Given the description of an element on the screen output the (x, y) to click on. 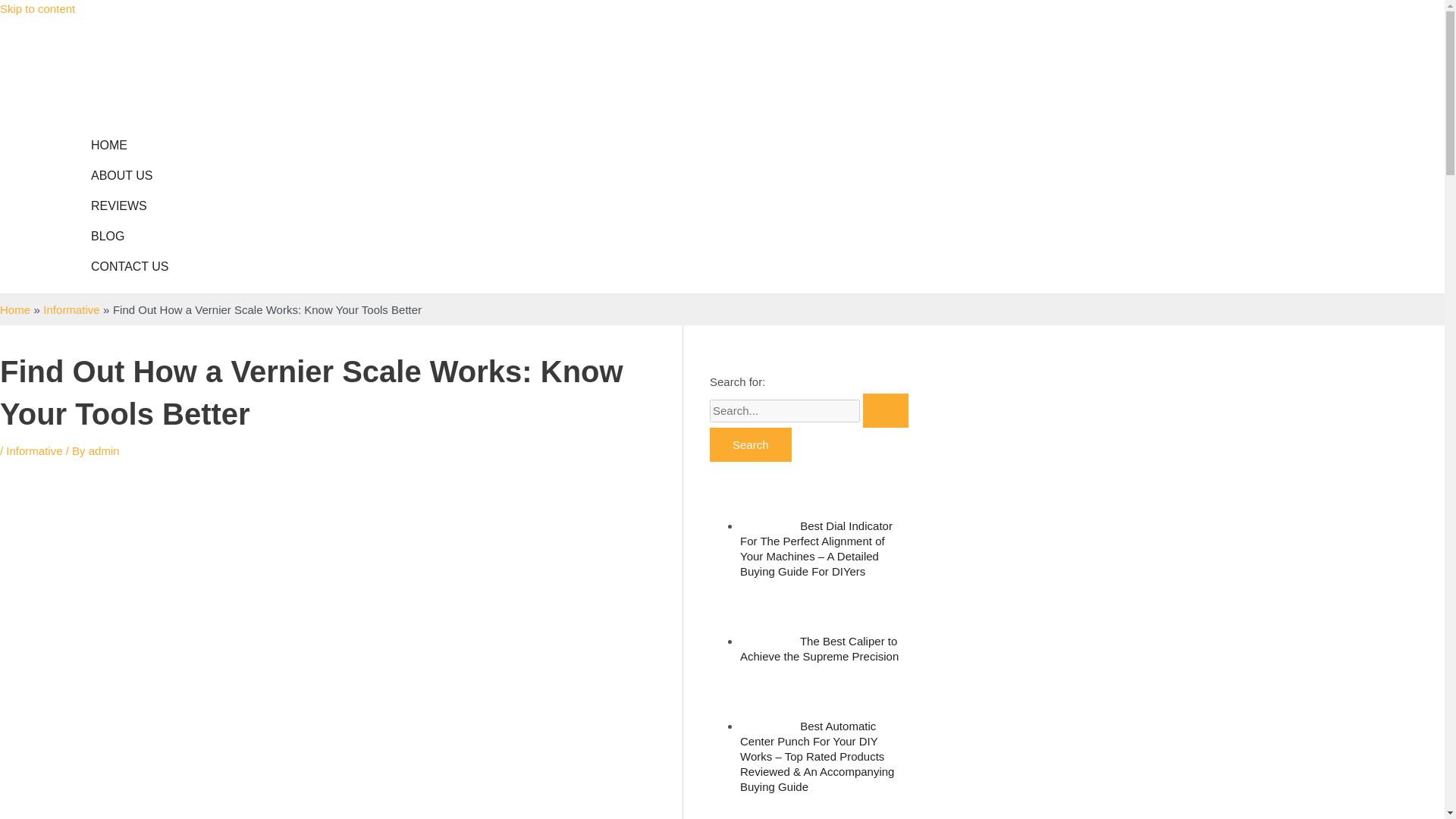
admin (103, 450)
Skip to content (37, 8)
View all posts by admin (103, 450)
HOME (129, 145)
Search (751, 444)
Informative (71, 309)
BLOG (129, 236)
CONTACT US (129, 266)
Informative (33, 450)
Skip to content (37, 8)
Search (751, 444)
Home (15, 309)
ABOUT US (129, 175)
REVIEWS (129, 205)
